Given the description of an element on the screen output the (x, y) to click on. 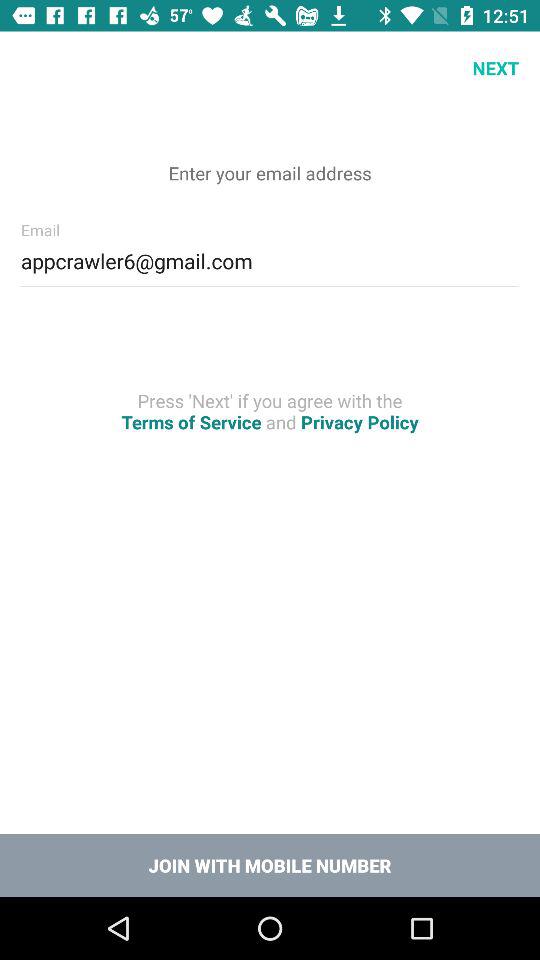
tap join with mobile icon (270, 864)
